Given the description of an element on the screen output the (x, y) to click on. 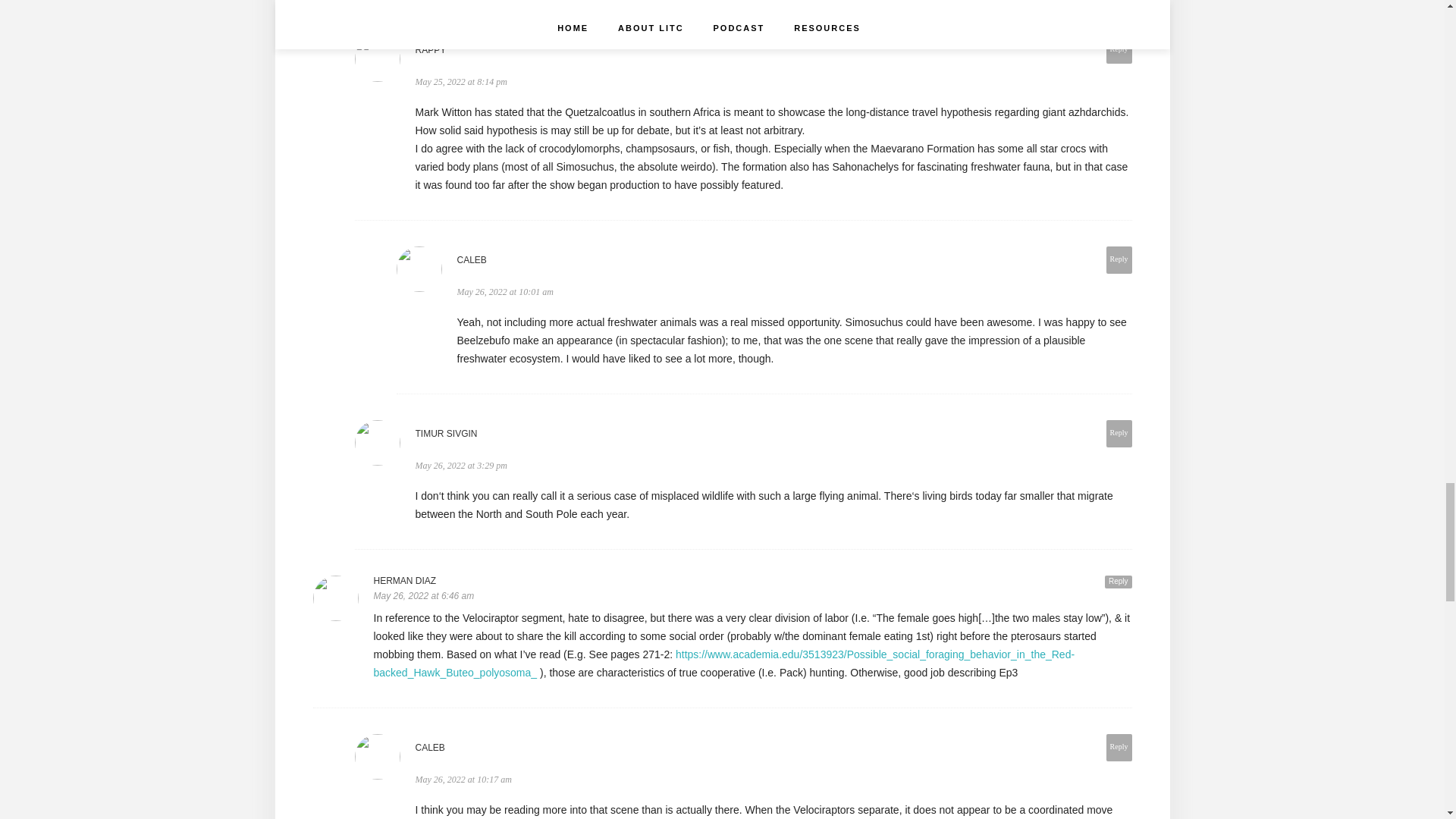
Reply (1119, 49)
